Given the description of an element on the screen output the (x, y) to click on. 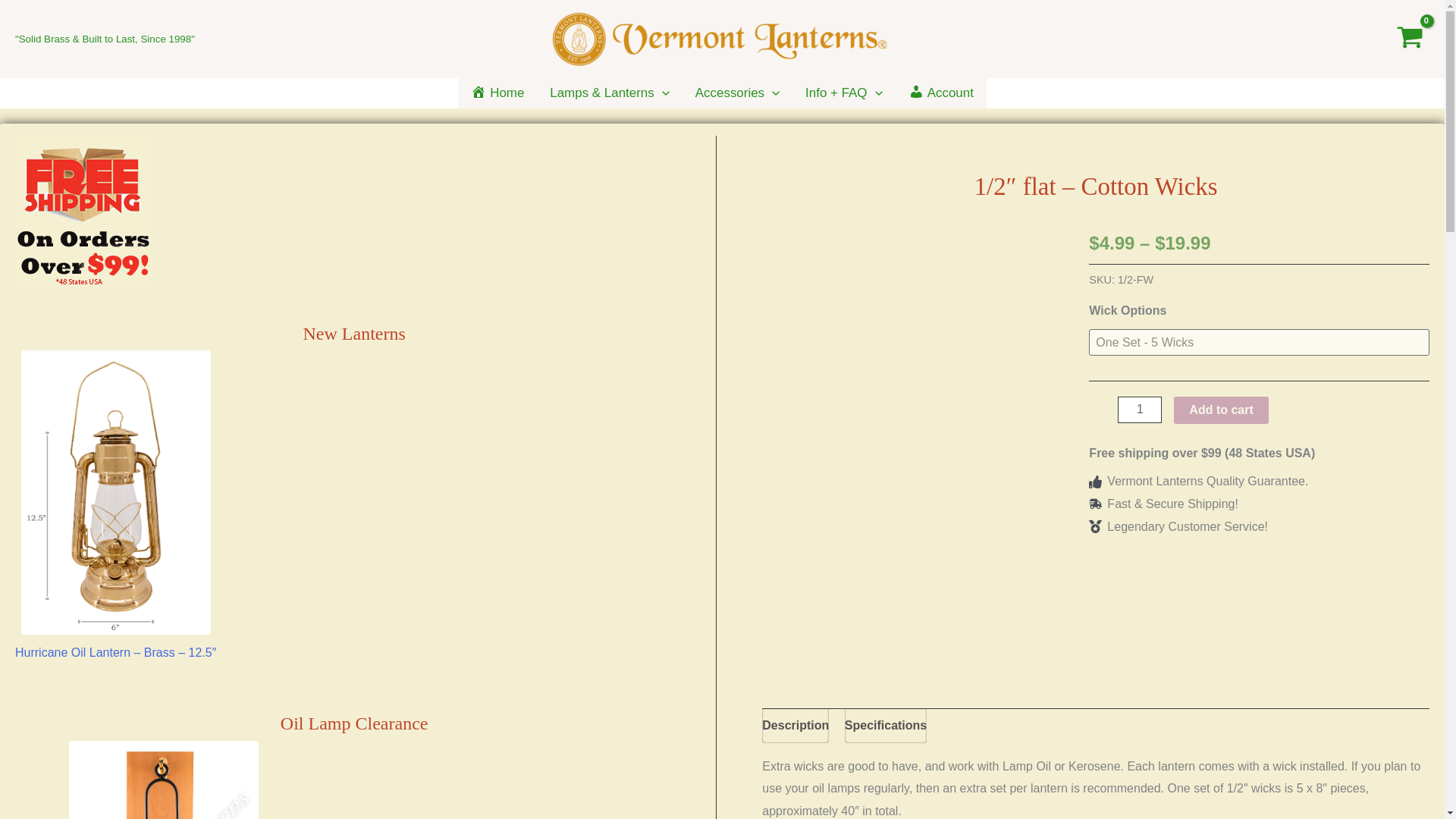
Home (497, 92)
Account (941, 92)
Accessories (737, 92)
1 (1139, 409)
